Given the description of an element on the screen output the (x, y) to click on. 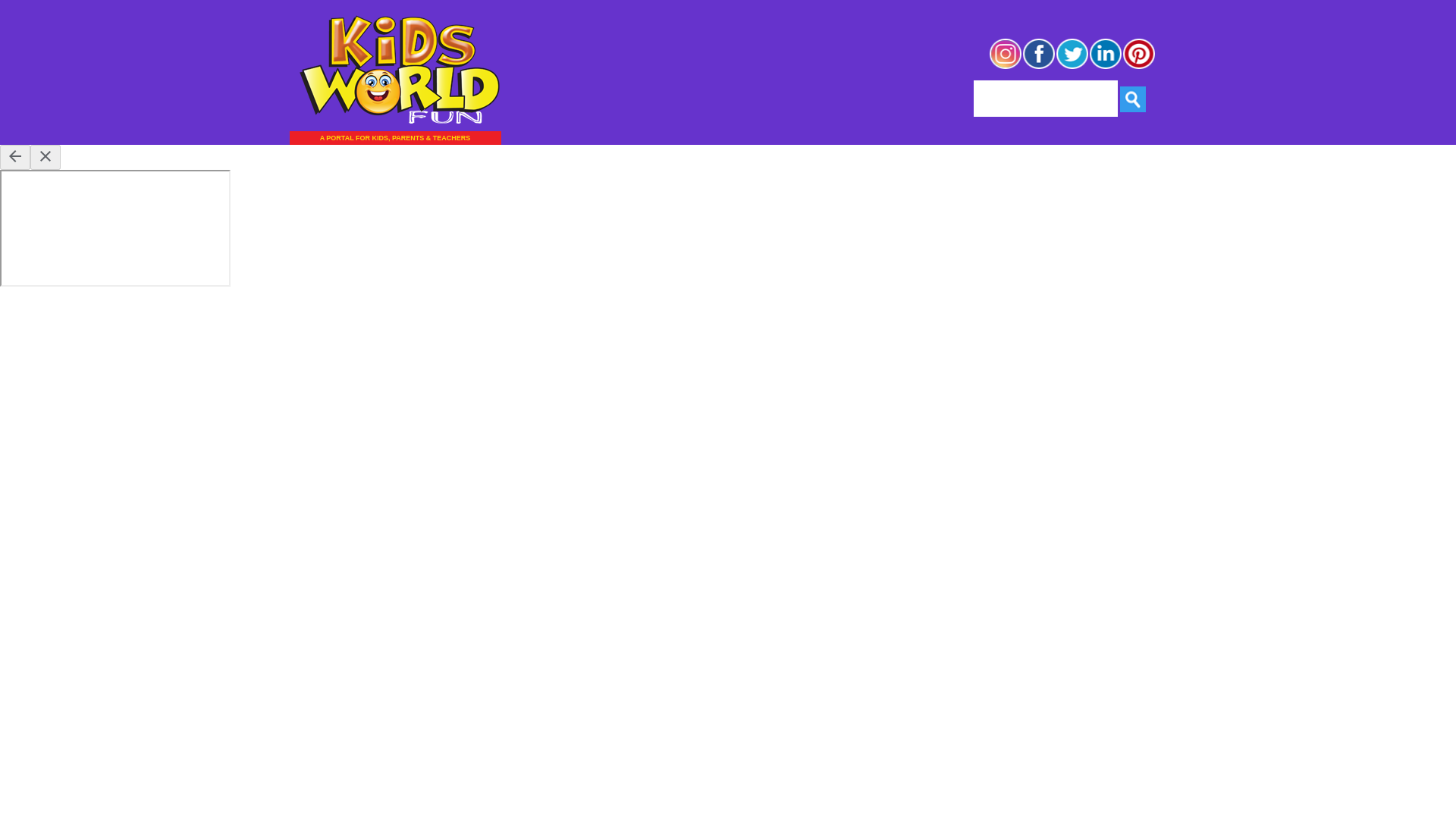
Follow Us On Twitter (1072, 66)
Follow Us On Facebook (1038, 66)
Search (1132, 99)
Follow Us On Pinterest (1139, 66)
Search (1132, 99)
Follow Us On Instagram (1005, 66)
Follow Us On LinkedIn (1105, 66)
